Given the description of an element on the screen output the (x, y) to click on. 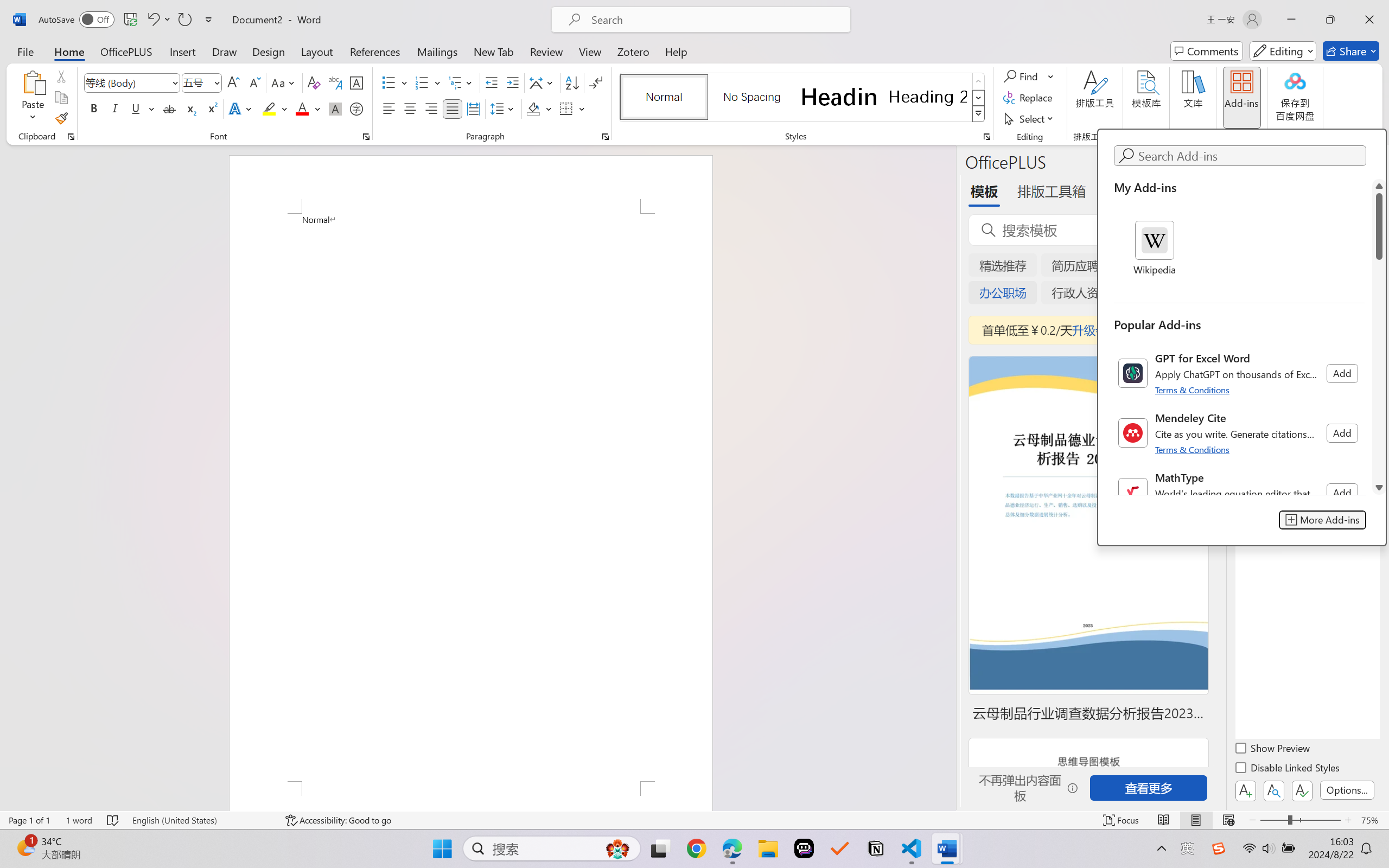
Zoom (1300, 819)
Find (1022, 75)
Zoom In (1348, 819)
Decrease Indent (491, 82)
Undo Apply Quick Style (158, 19)
Underline (142, 108)
Google Chrome (696, 848)
New Tab (493, 51)
Phonetic Guide... (334, 82)
Show/Hide Editing Marks (595, 82)
